Given the description of an element on the screen output the (x, y) to click on. 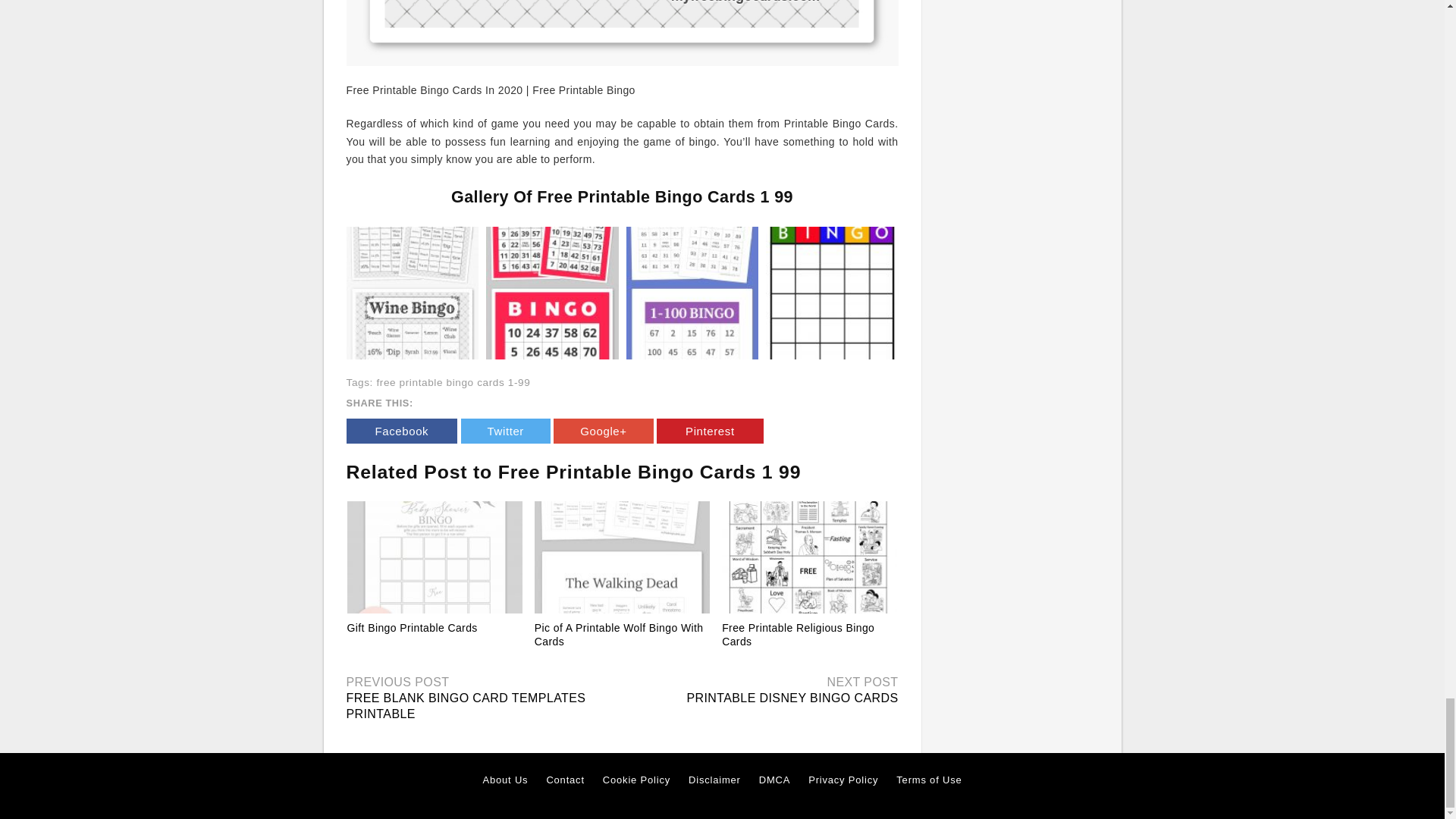
Pic of A Printable Wolf Bingo With Cards (618, 634)
Gift Bingo Printable Cards (412, 627)
free printable bingo cards 1-99 (452, 382)
Pic of A Printable Wolf Bingo With Cards (622, 557)
Gift Bingo Printable Cards (412, 627)
PRINTABLE DISNEY BINGO CARDS (791, 697)
Gift Bingo Printable Cards (434, 557)
Pic of A Printable Wolf Bingo With Cards (618, 634)
FREE BLANK BINGO CARD TEMPLATES PRINTABLE (465, 705)
Free Printable Religious Bingo Cards (809, 557)
